Given the description of an element on the screen output the (x, y) to click on. 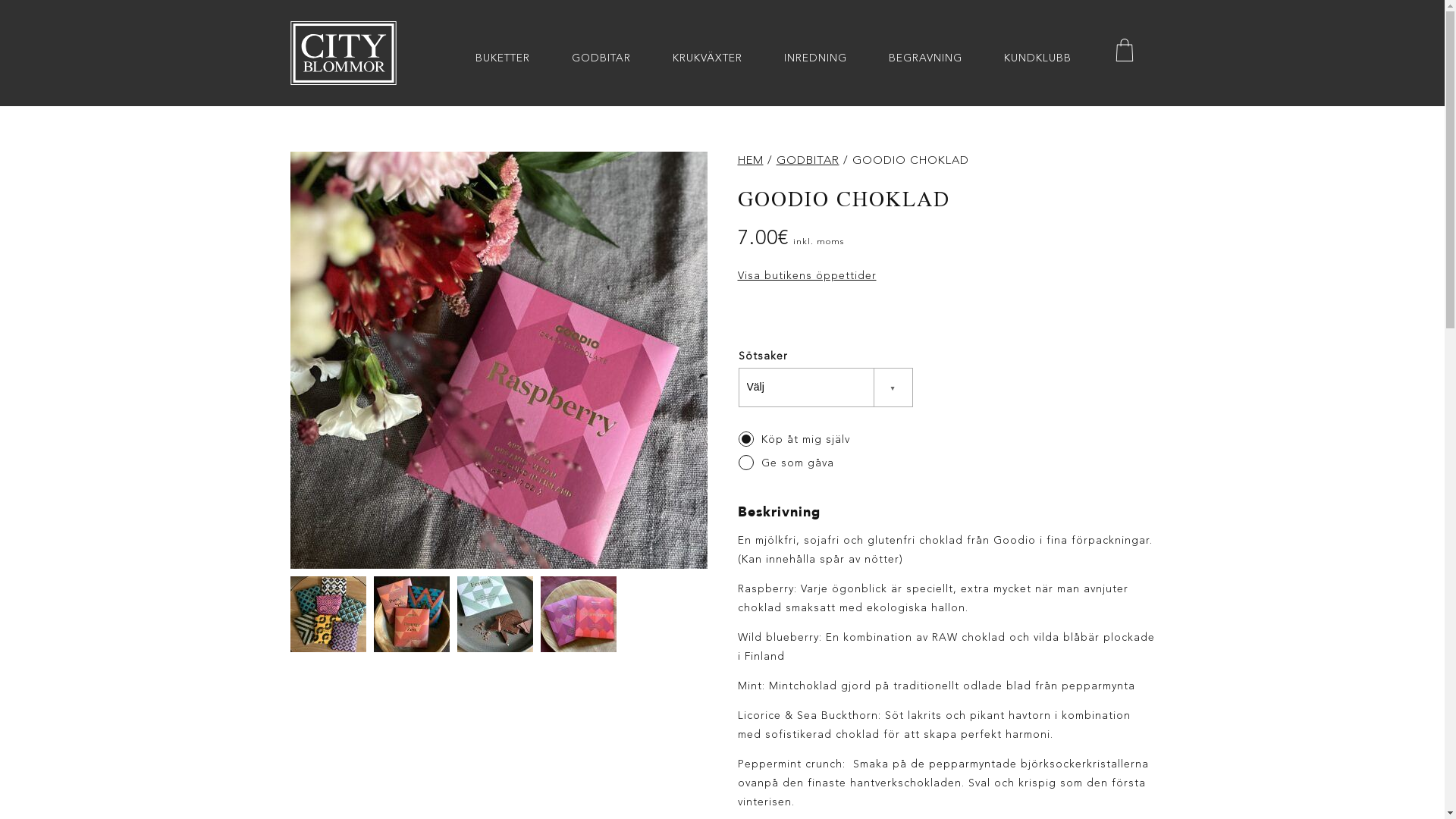
City Blommor Element type: text (342, 53)
CD7090D2-445D-4248-8A4B-BD89668E0552 Element type: hover (577, 614)
BUKETTER Element type: text (501, 58)
0DF24320-92D7-487B-A0D0-DC6D1FE8468E Element type: hover (494, 614)
IMG_2721 Element type: hover (497, 359)
FAF6D30D-A21B-4C27-9B71-82C72DB90A0E Element type: hover (327, 614)
KUNDKLUBB Element type: text (1037, 58)
INREDNING Element type: text (815, 58)
GODBITAR Element type: text (807, 160)
Visa varukorgen Element type: hover (1124, 52)
81B08697-8A79-41CF-8F00-4CC72874CA47 Element type: hover (410, 614)
GODBITAR Element type: text (600, 58)
HEM Element type: text (749, 160)
BEGRAVNING Element type: text (925, 58)
